Given the description of an element on the screen output the (x, y) to click on. 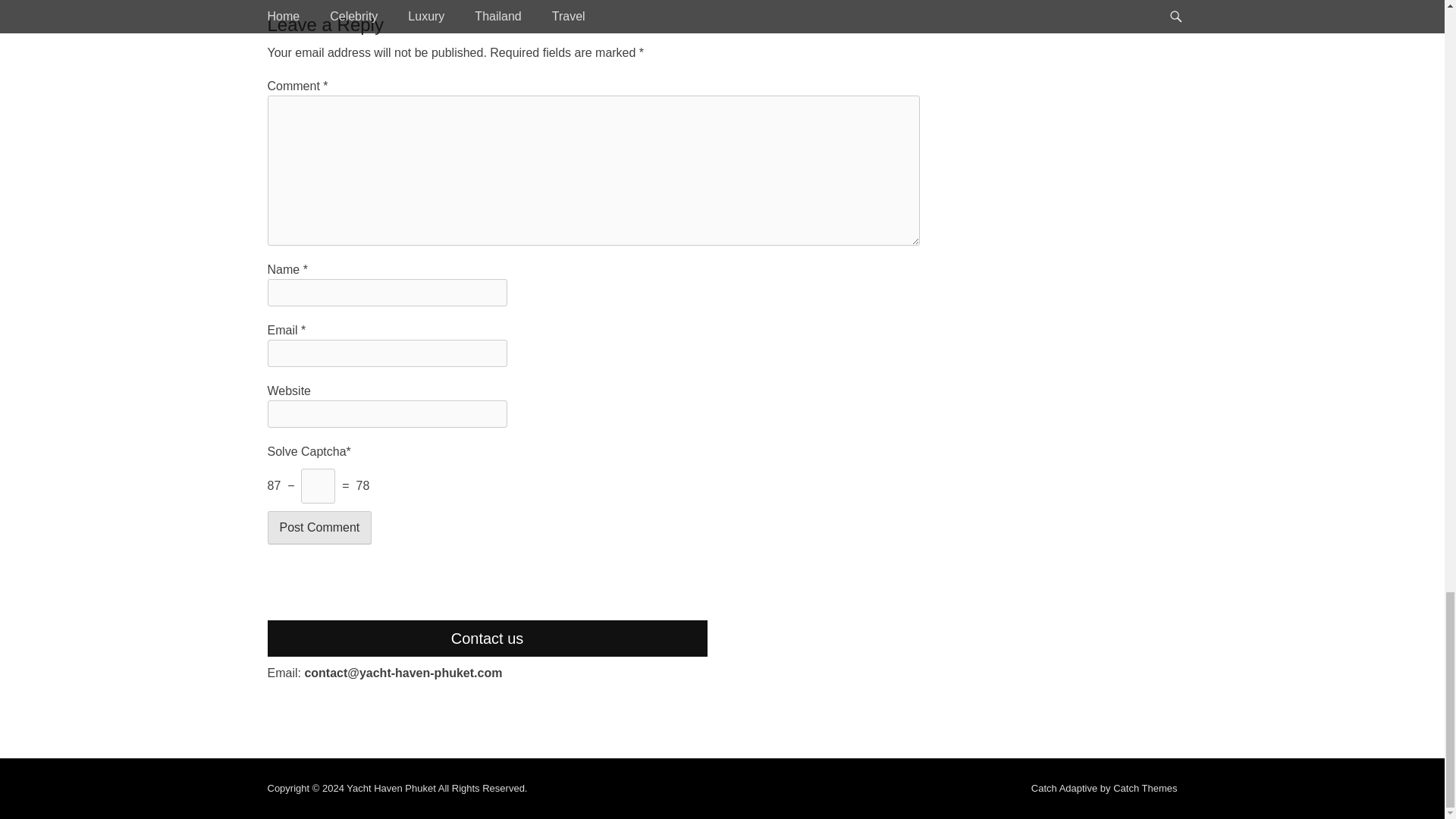
Post Comment (318, 527)
Post Comment (318, 527)
